Given the description of an element on the screen output the (x, y) to click on. 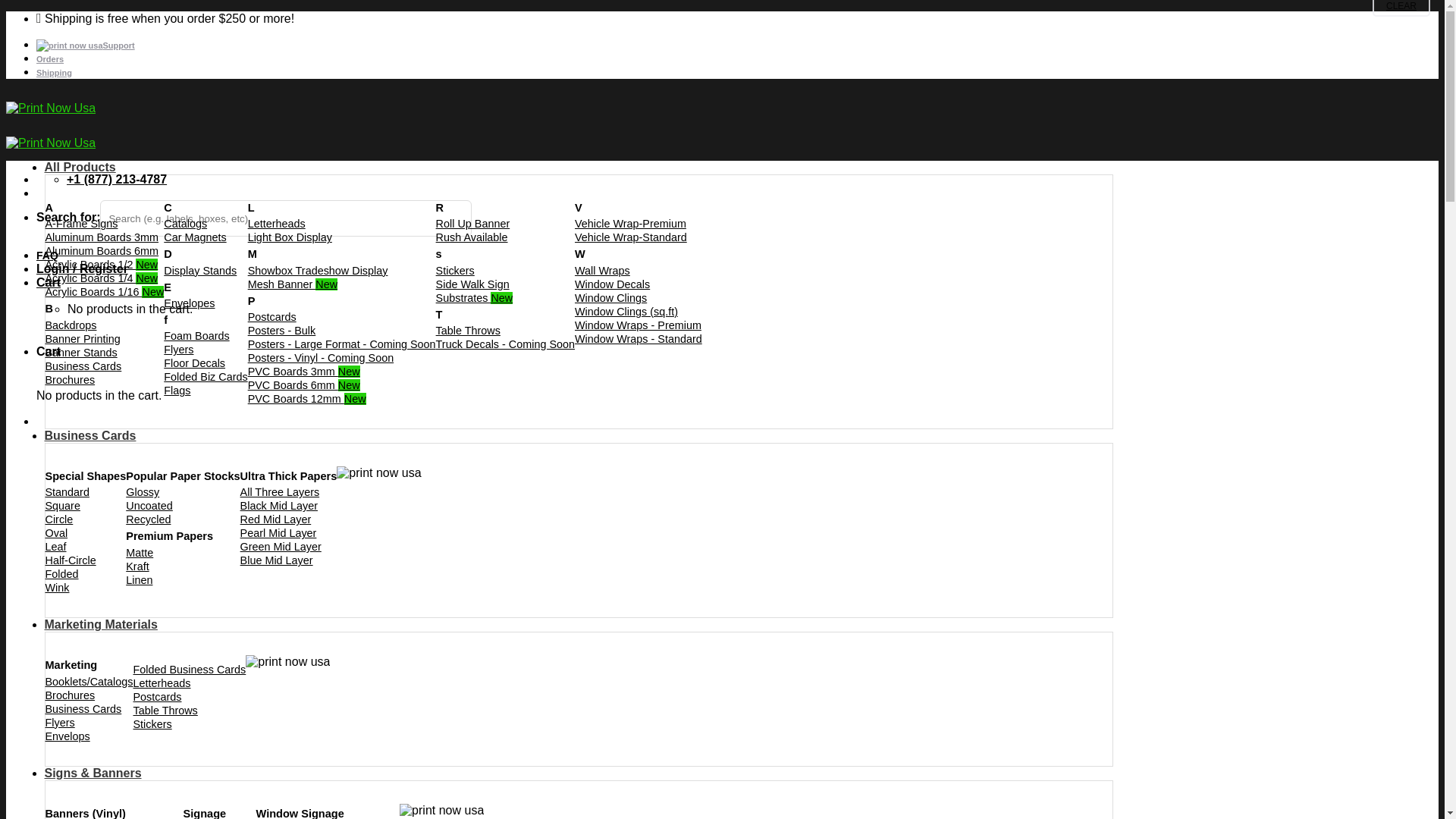
Foam Boards (195, 336)
Banner Stands (81, 352)
Cart (48, 282)
Car Magnets (194, 236)
Flags (176, 390)
Mesh Banner (292, 284)
Shipping (53, 71)
Showbox Tradeshow Display (317, 270)
Display Stands (199, 270)
All Products (80, 166)
Posters - Large Format - Coming Soon (341, 344)
Cart (48, 282)
Backdrops (71, 325)
